Given the description of an element on the screen output the (x, y) to click on. 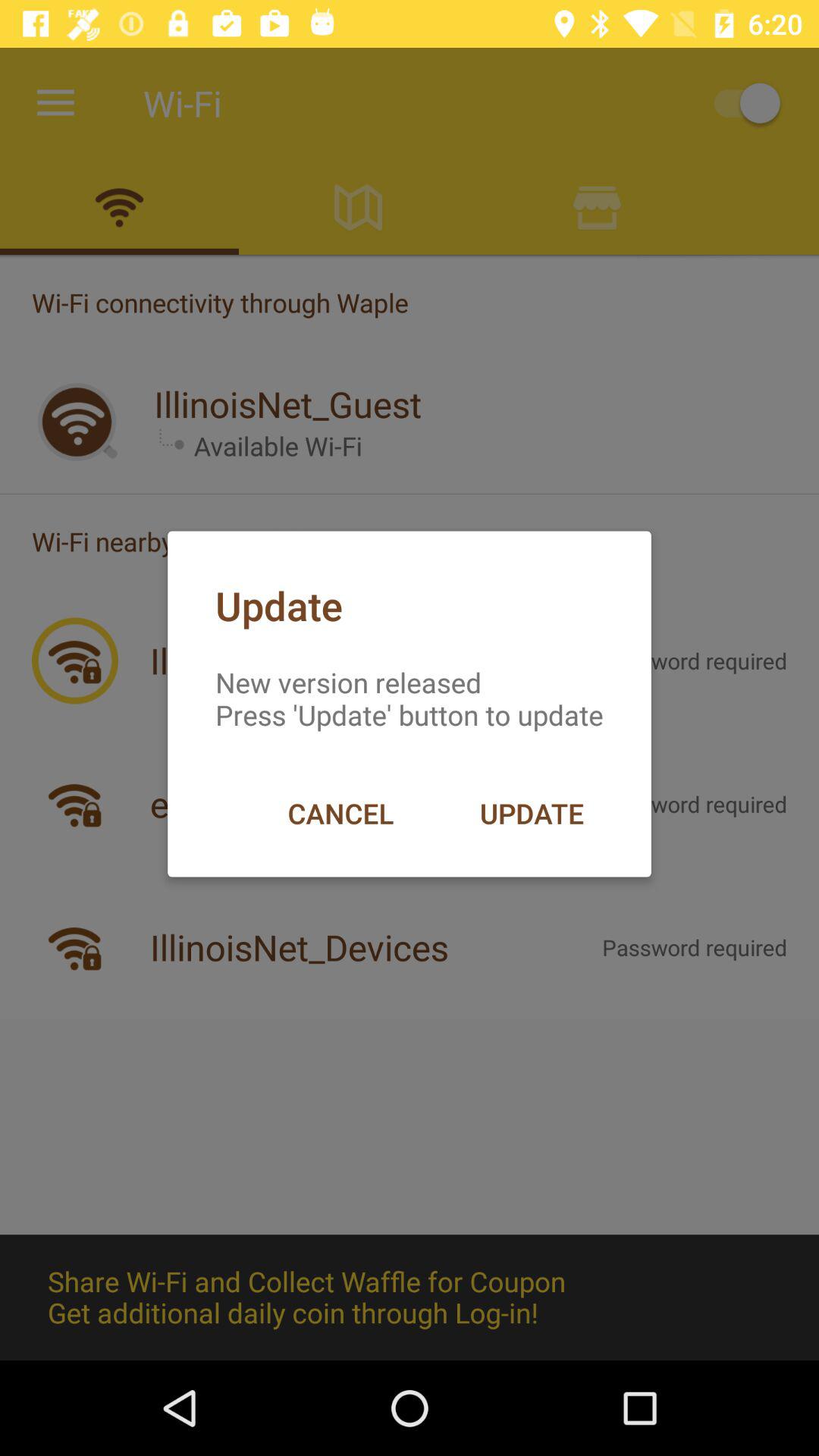
choose item to the left of the update item (340, 813)
